Given the description of an element on the screen output the (x, y) to click on. 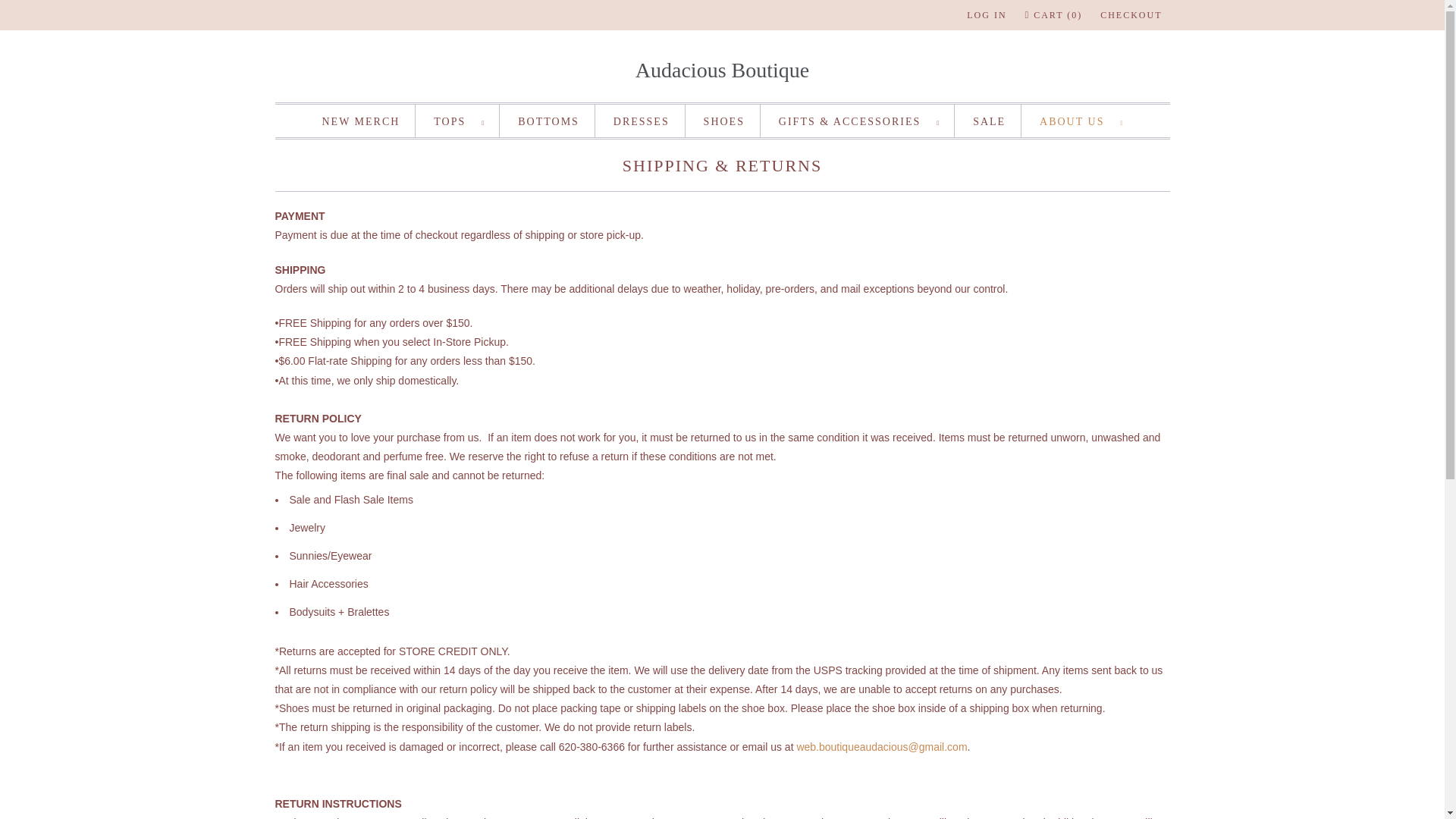
NEW MERCH (359, 121)
DRESSES (640, 121)
Audacious Boutique (722, 69)
CHECKOUT (1130, 15)
LOG IN (986, 15)
Audacious Boutique (722, 69)
ABOUT US  (1080, 121)
BOTTOMS (548, 121)
SALE (989, 121)
TOPS  (458, 121)
SHOES (723, 121)
